Given the description of an element on the screen output the (x, y) to click on. 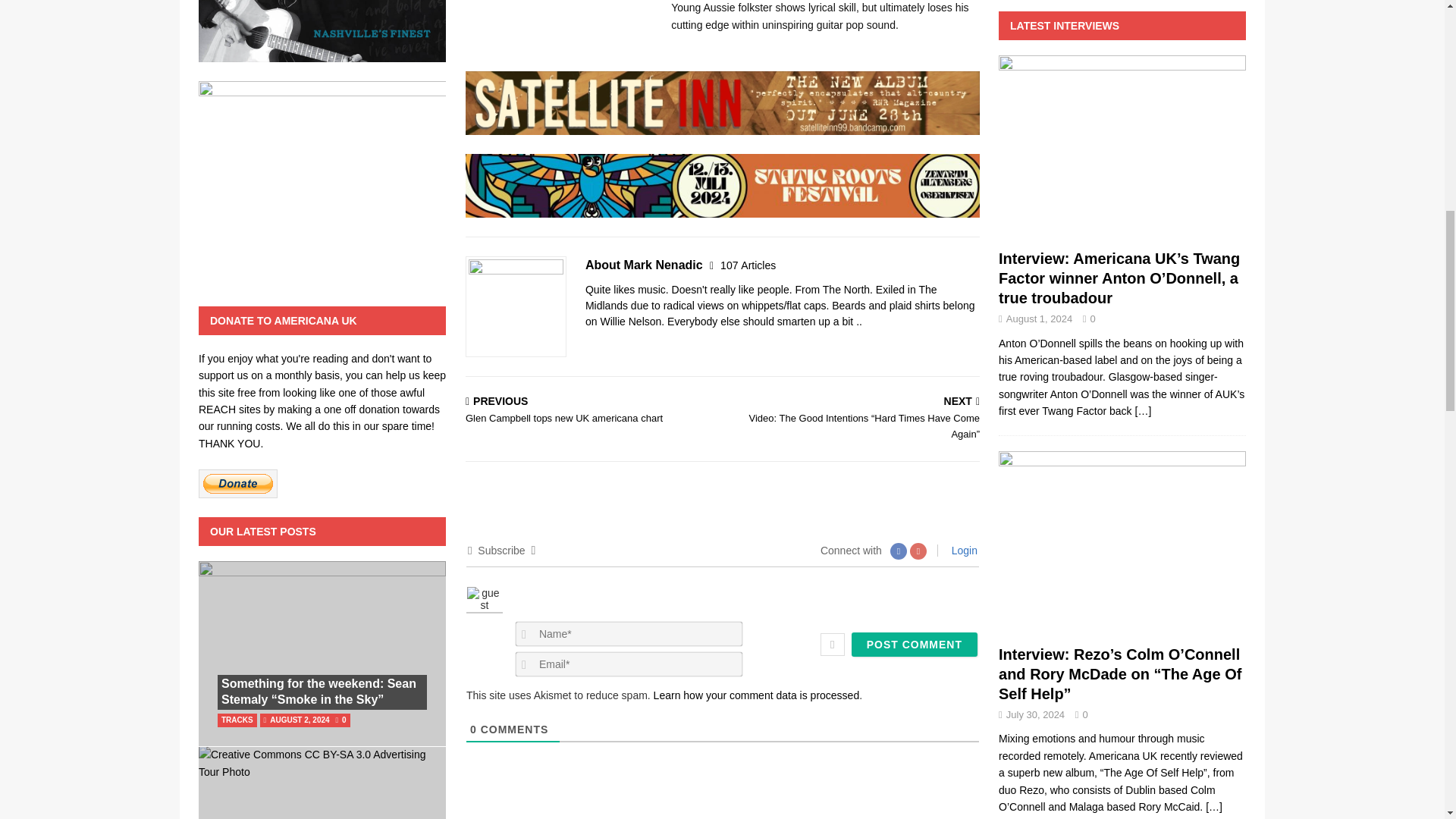
Post Comment (913, 644)
